Given the description of an element on the screen output the (x, y) to click on. 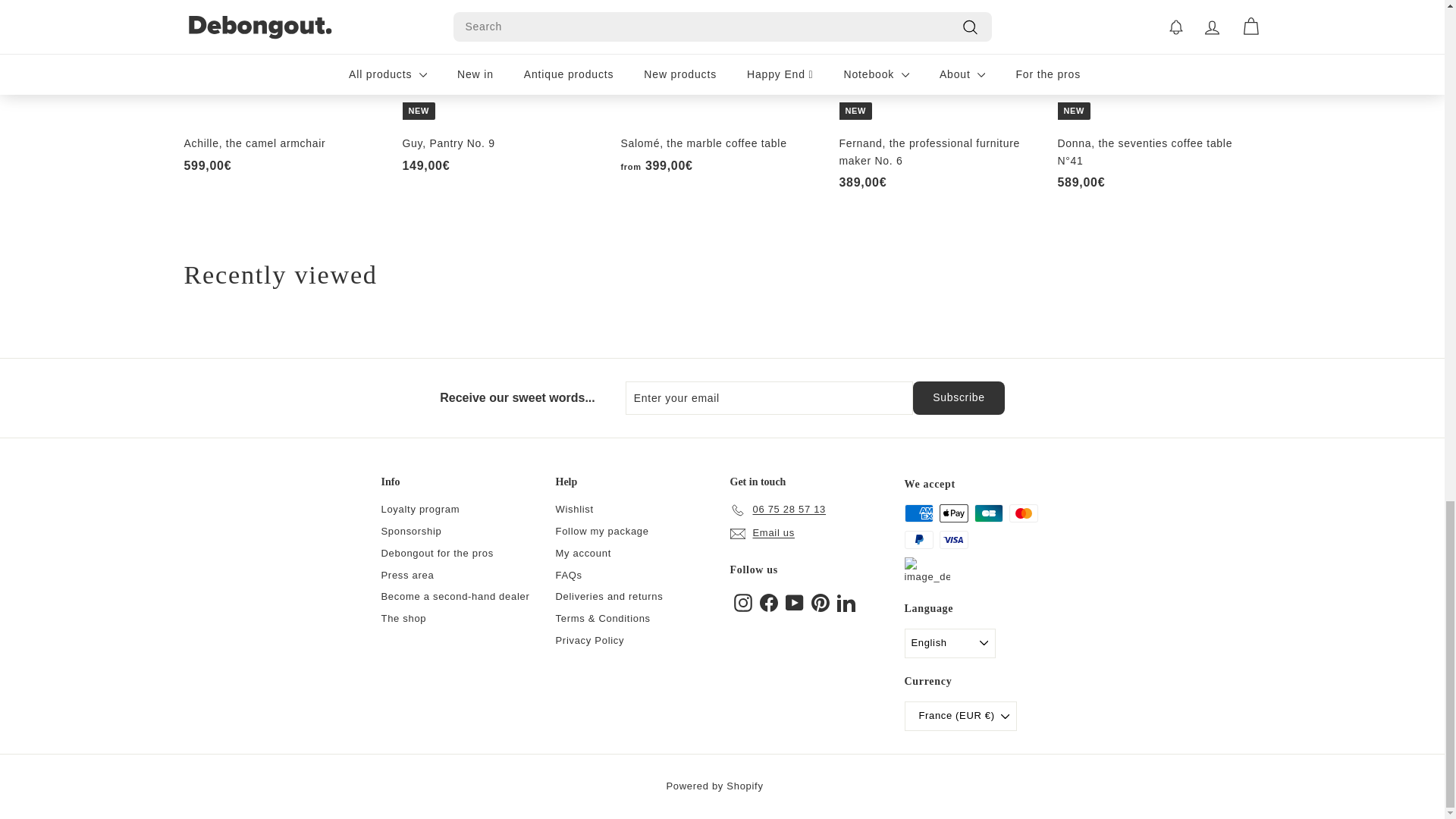
Debongout on Pinterest (819, 602)
Debongout on Instagram (742, 602)
Debongout on Facebook (768, 602)
instagram (742, 602)
Debongout on YouTube (794, 602)
Debongout on LinkedIn (846, 602)
